Given the description of an element on the screen output the (x, y) to click on. 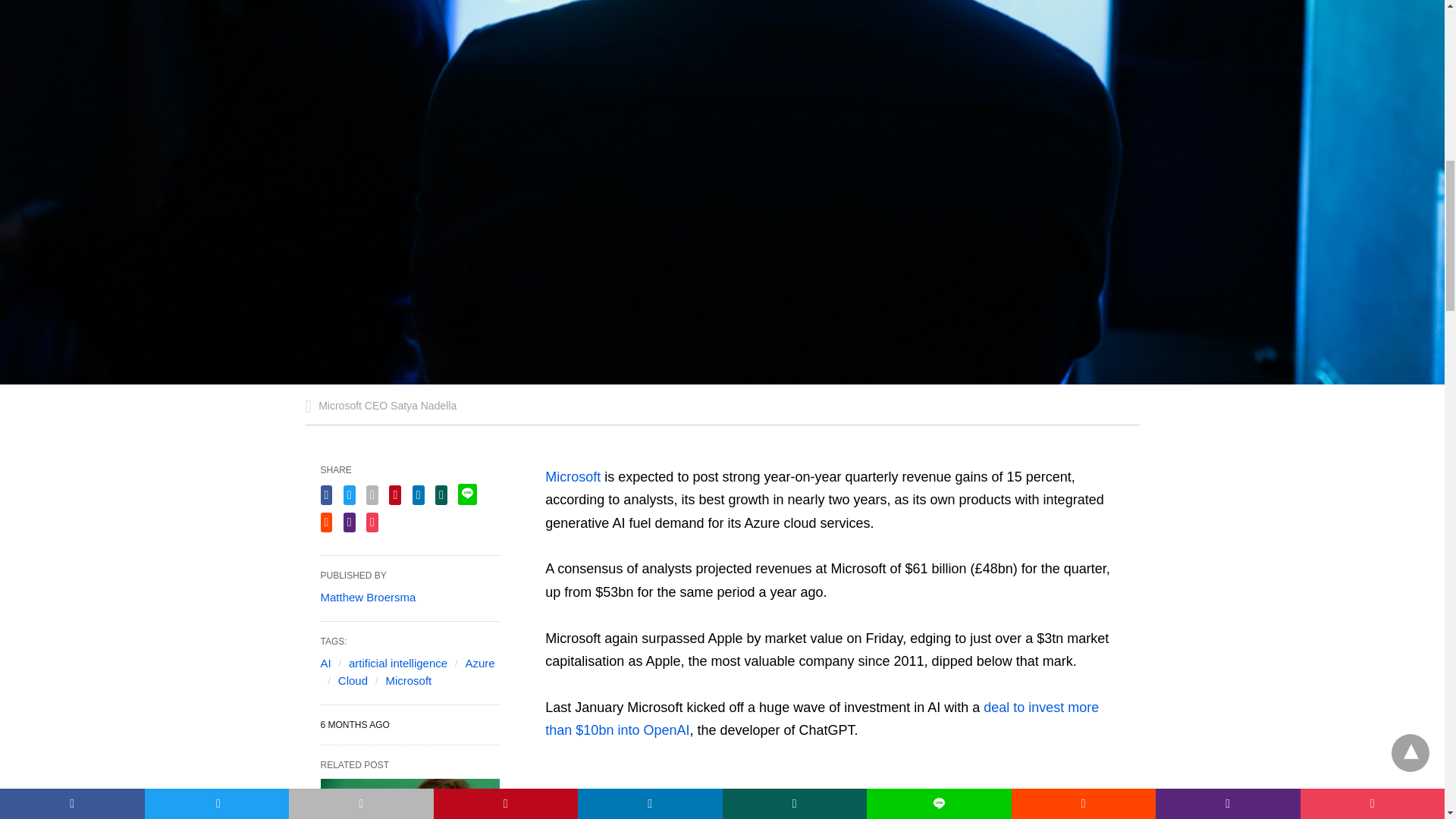
Azure (479, 662)
Microsoft (571, 476)
artificial intelligence (397, 662)
Microsoft (407, 680)
Cloud (352, 680)
line share (467, 494)
AI (325, 662)
Silicon UK In Focus Podcast: Connecting the Machines (409, 798)
